Given the description of an element on the screen output the (x, y) to click on. 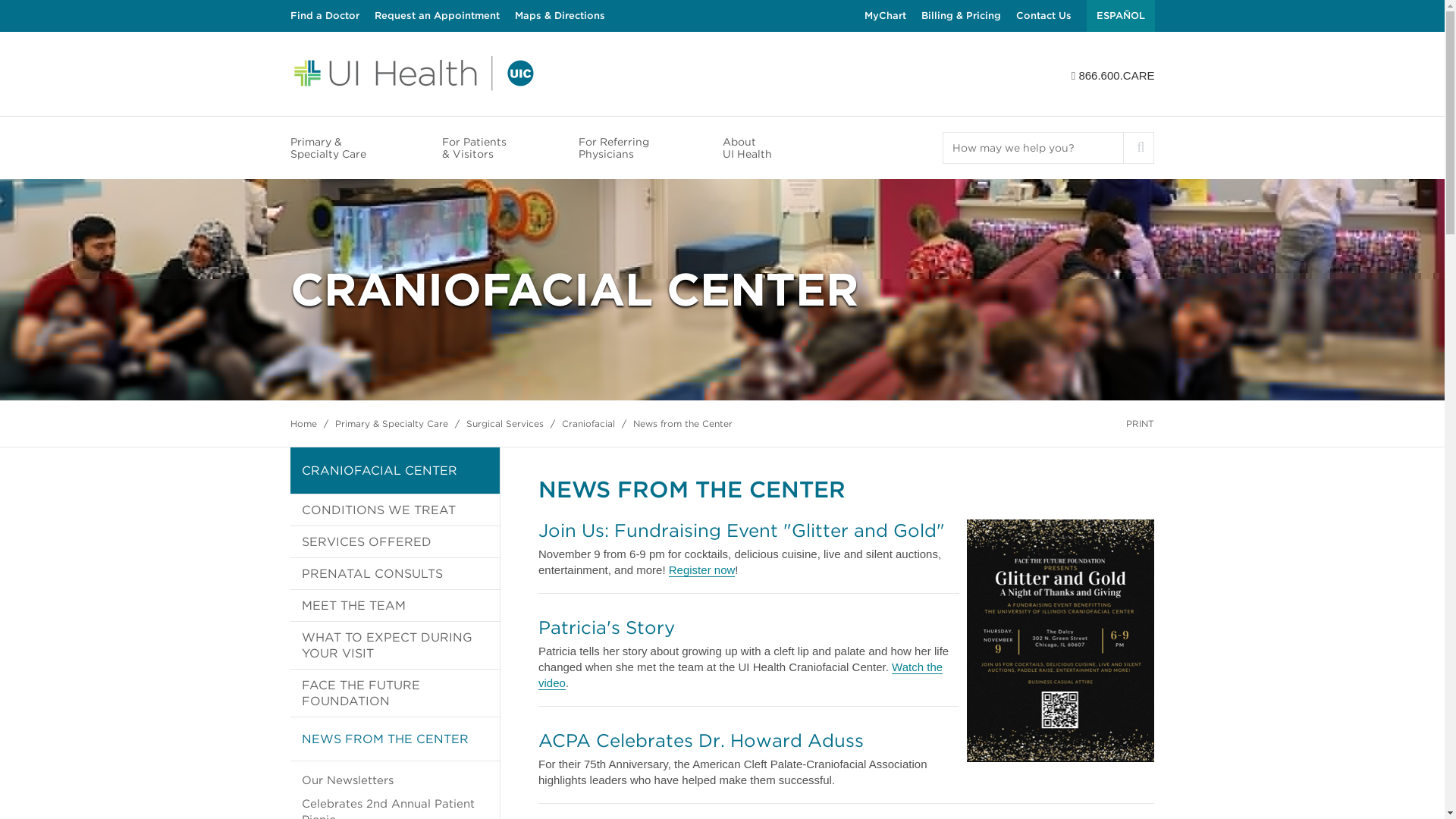
Find a Doctor (323, 15)
Request an Appointment (436, 15)
Find a Doctor (323, 15)
Request an Appointment (436, 15)
Pay A Bill (960, 15)
MyChart (884, 15)
Contact Us (1043, 15)
Noticias del Centro (1120, 15)
Contact Us (1043, 15)
